Given the description of an element on the screen output the (x, y) to click on. 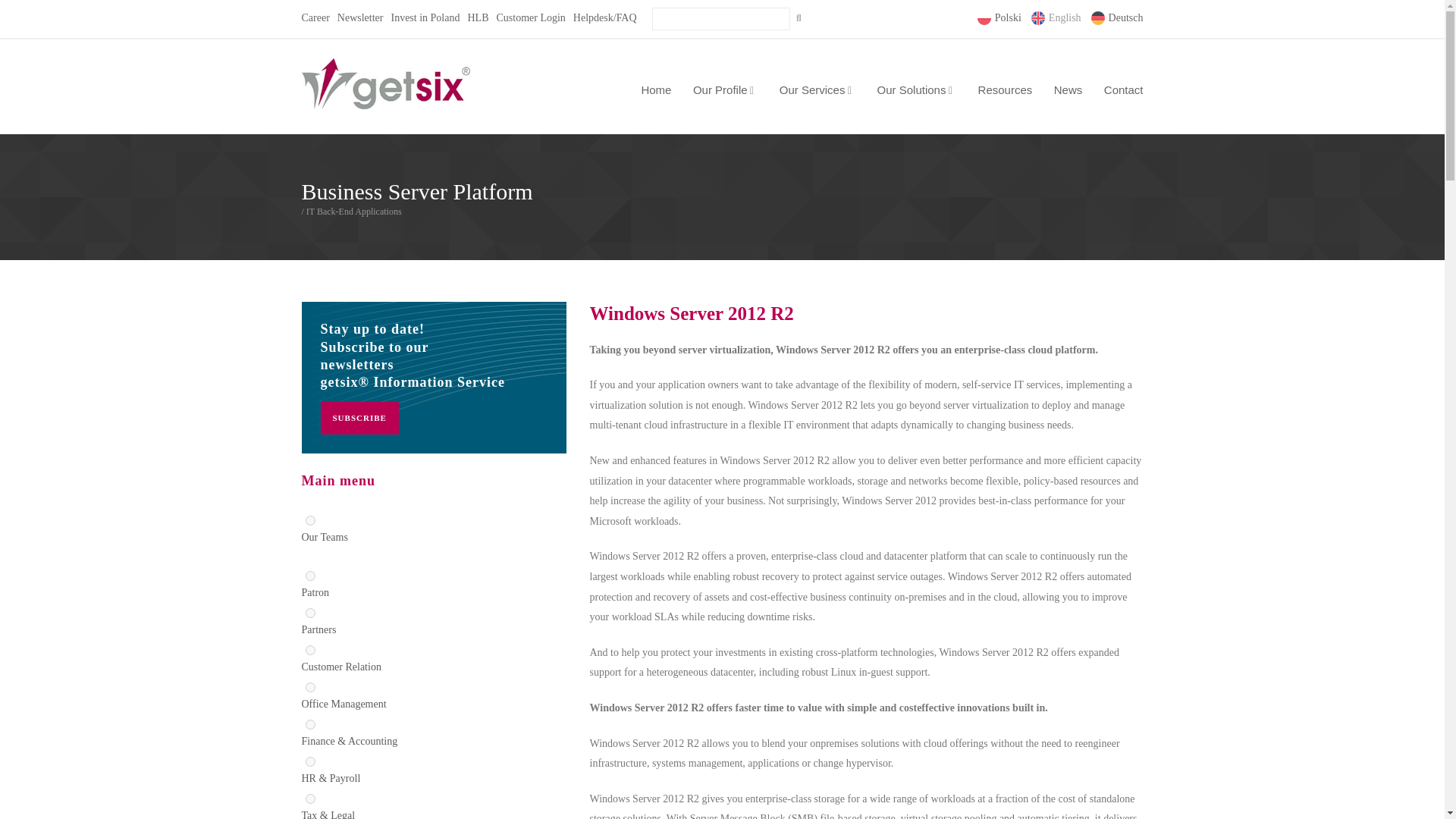
on (309, 650)
Helpdesk (605, 17)
on (309, 613)
Invest in Poland (425, 17)
Newsletter (360, 17)
Customer Login (530, 17)
on (309, 520)
on (309, 575)
Newsletter (360, 17)
on (309, 724)
